Given the description of an element on the screen output the (x, y) to click on. 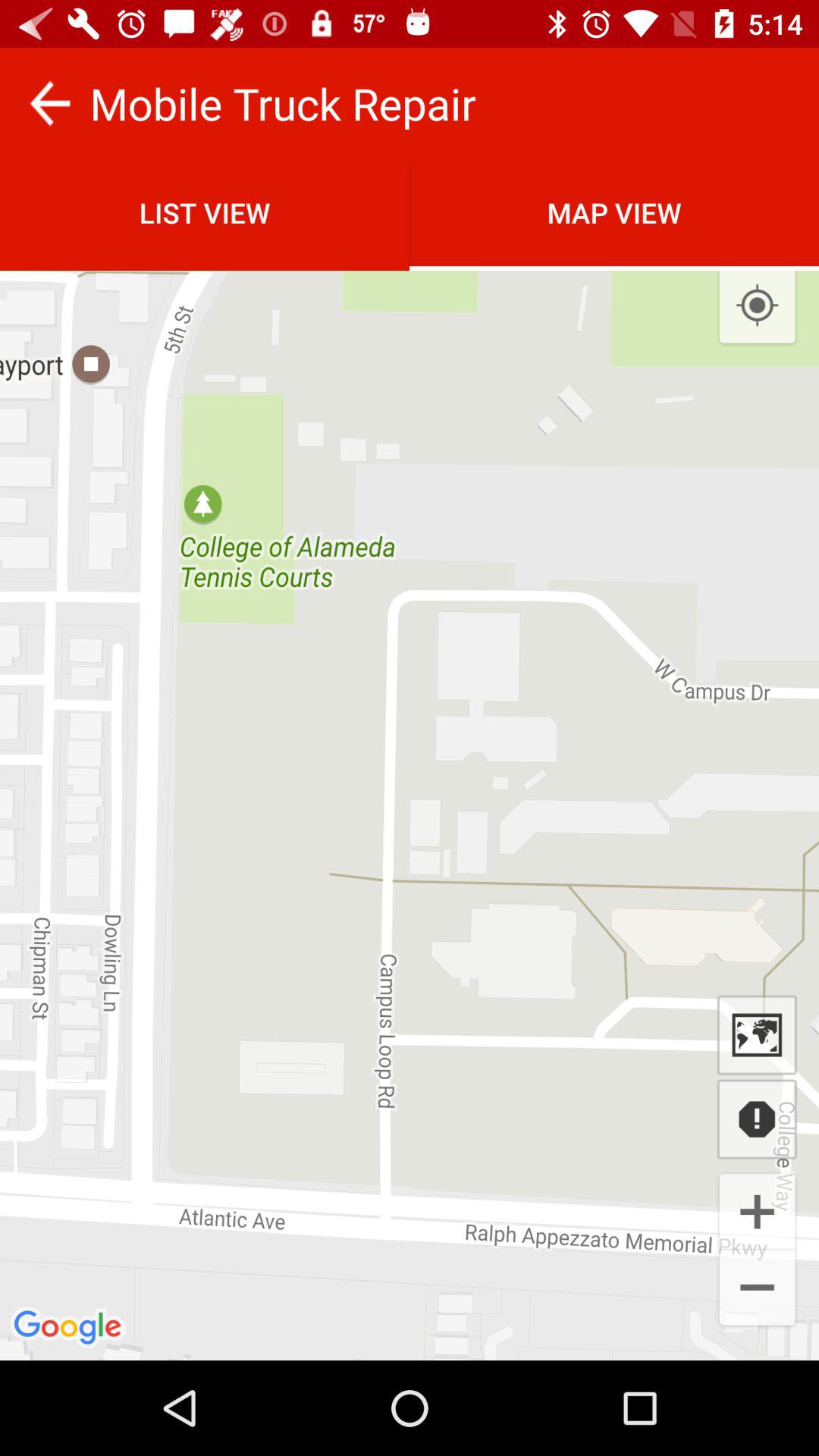
scroll until map view item (614, 212)
